Given the description of an element on the screen output the (x, y) to click on. 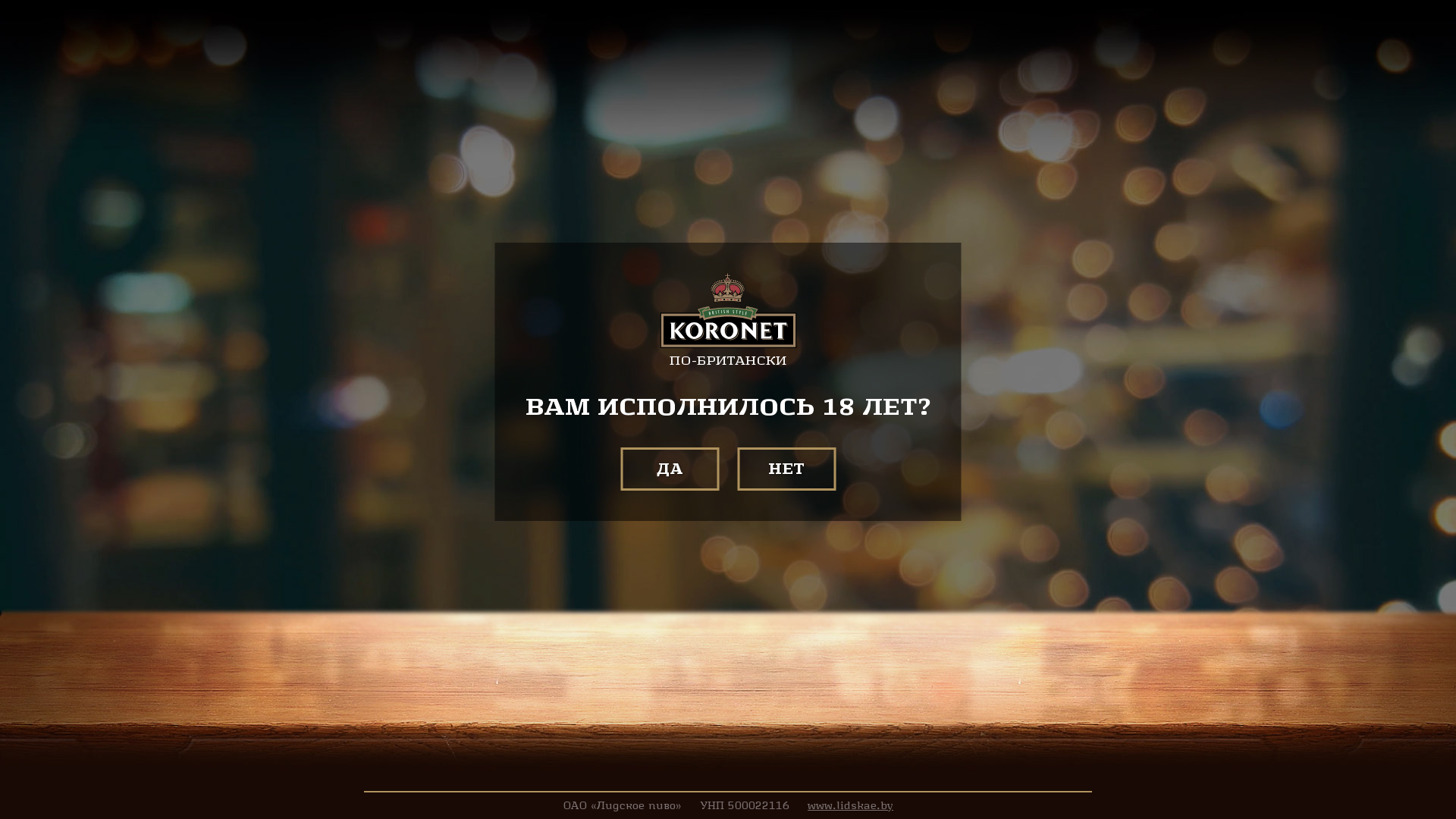
www.lidskae.by Element type: text (850, 805)
